Given the description of an element on the screen output the (x, y) to click on. 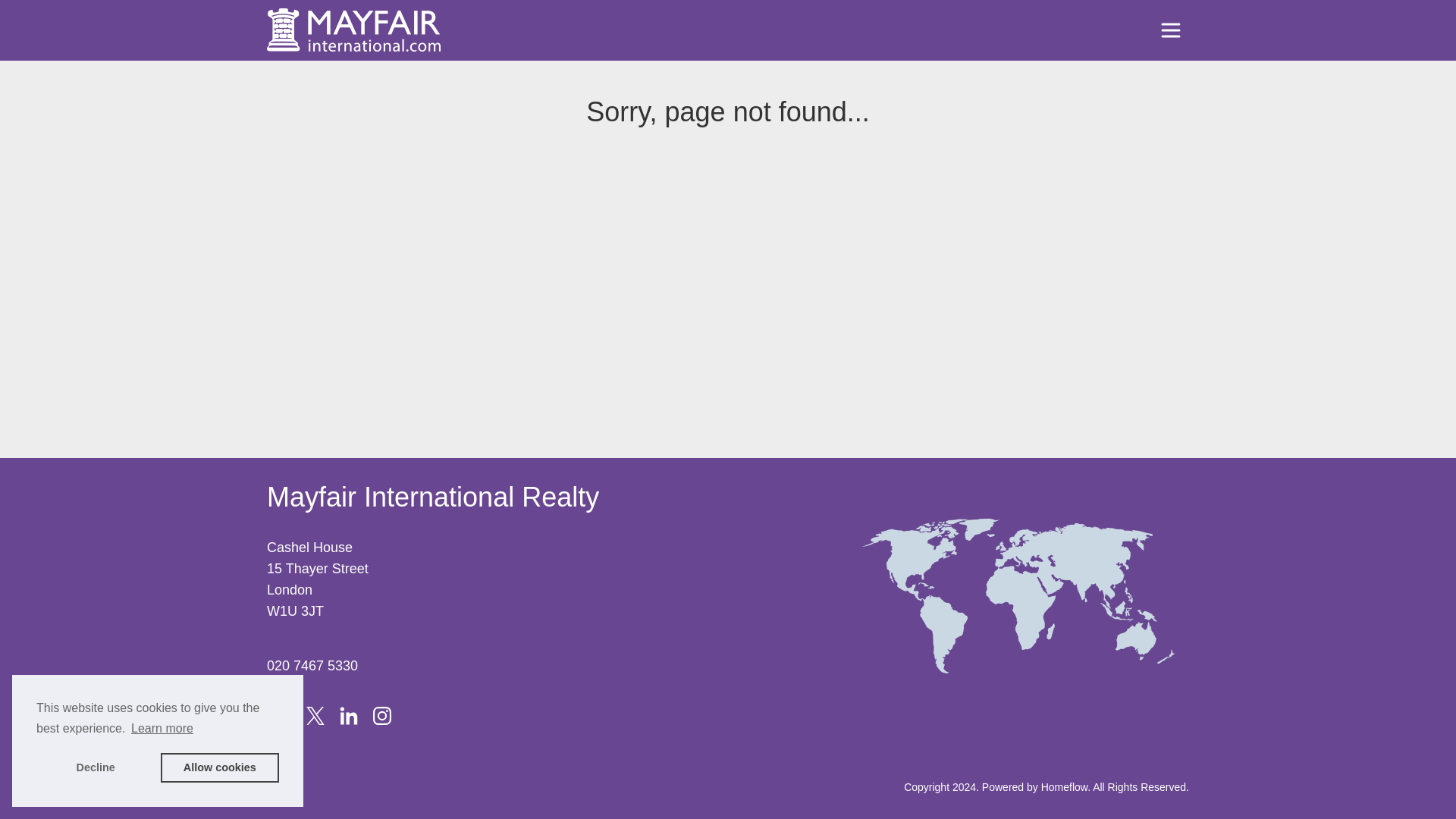
020 7467 5330 (312, 665)
Allow cookies (219, 767)
Homeflow (1064, 787)
Learn more (162, 728)
Decline (95, 767)
